Given the description of an element on the screen output the (x, y) to click on. 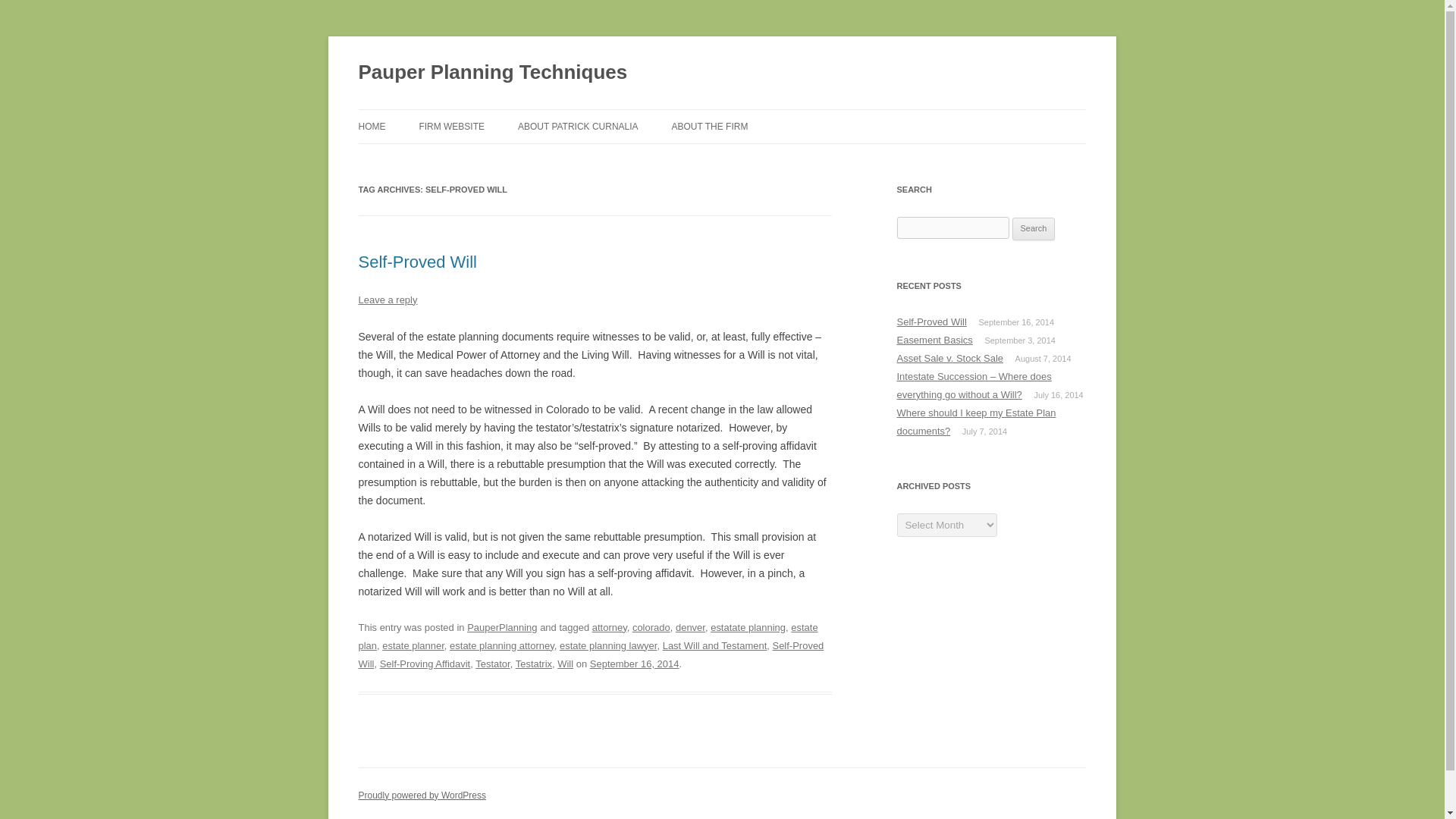
estate planner (412, 645)
Skip to content (757, 113)
Self-Proved Will (417, 261)
Pauper Planning Techniques (492, 72)
colorado (650, 627)
Pauper Planning Techniques (492, 72)
ABOUT THE FIRM (709, 126)
estate planning attorney (501, 645)
denver (689, 627)
View all posts in PauperPlanning (502, 627)
Will (565, 663)
ABOUT PATRICK CURNALIA (578, 126)
Self-Proved Will (591, 654)
attorney (609, 627)
Last Will and Testament (714, 645)
